Given the description of an element on the screen output the (x, y) to click on. 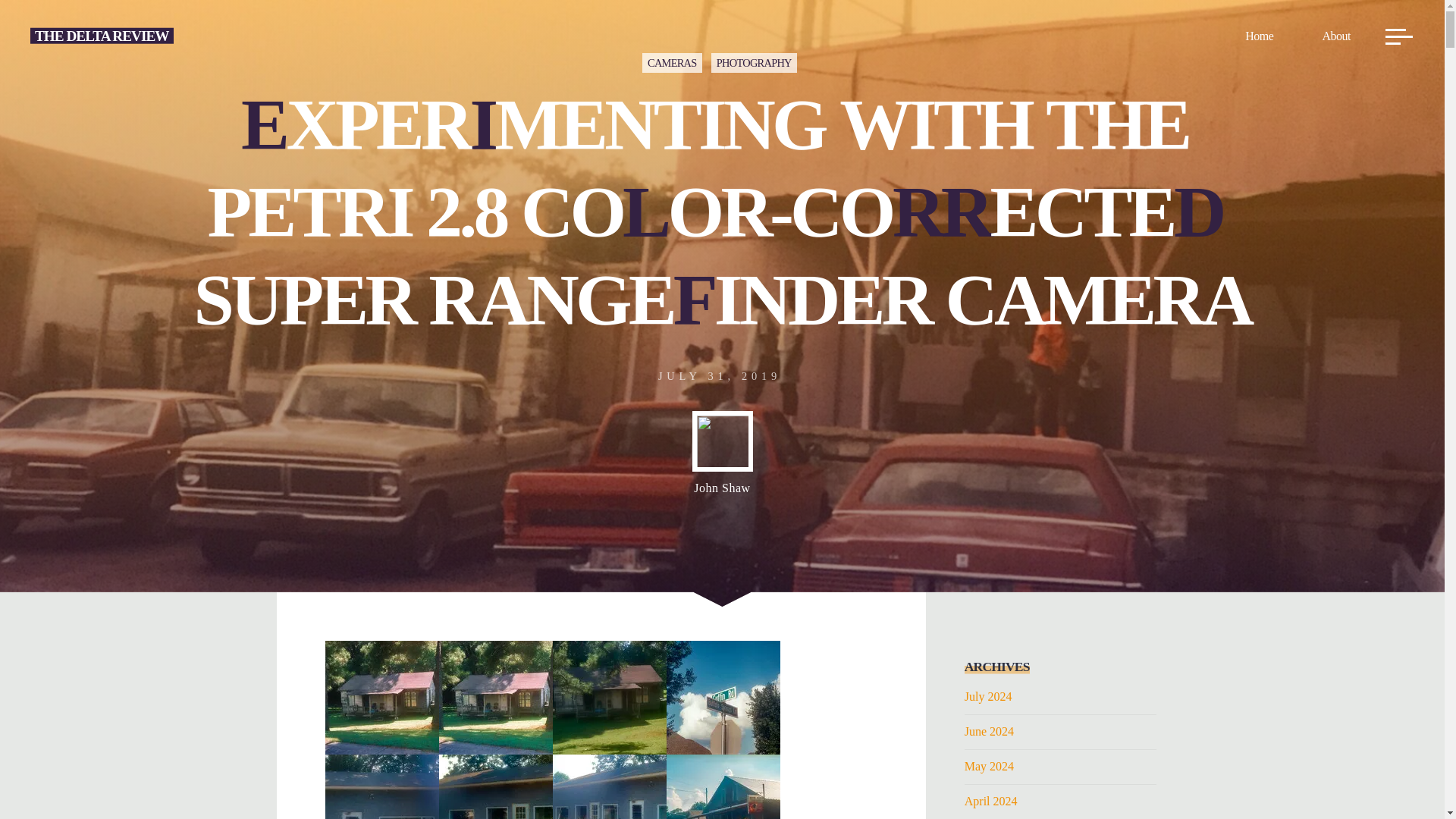
About (1335, 35)
John Shaw (721, 452)
Home (1259, 35)
THE DELTA REVIEW (101, 35)
Read more (721, 512)
View all posts by John Shaw (721, 452)
PHOTOGRAPHY (753, 62)
Founded 1963 Relaunched 2019. The Postmodern South.  (101, 35)
CAMERAS (671, 62)
